Given the description of an element on the screen output the (x, y) to click on. 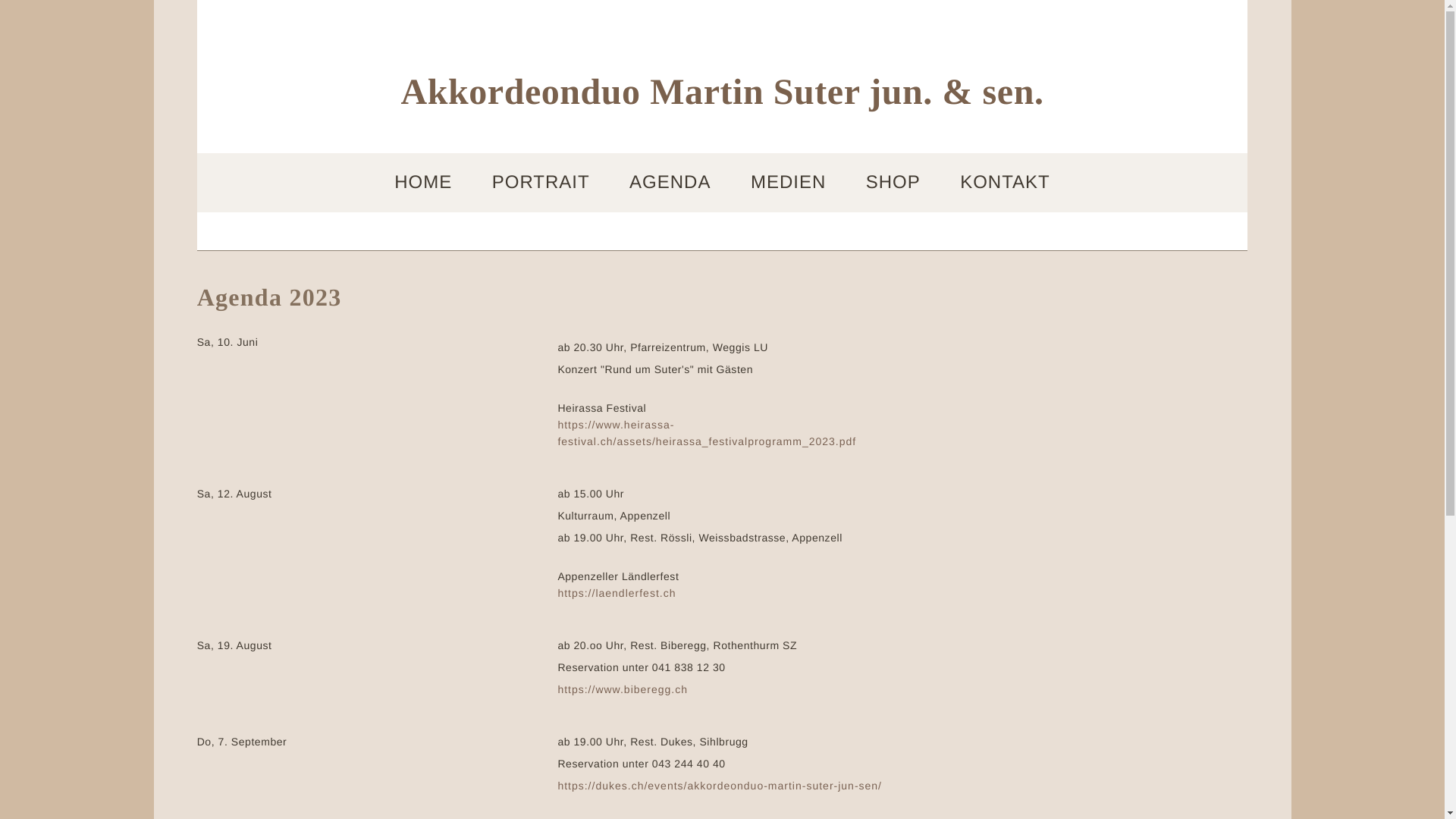
AGENDA Element type: text (669, 182)
HOME Element type: text (423, 182)
https://dukes.ch/events/akkordeonduo-martin-suter-jun-sen/ Element type: text (719, 785)
Akkordeonduo Martin Suter jun. & sen. Element type: text (722, 95)
MEDIEN Element type: text (788, 182)
SHOP Element type: text (892, 182)
PORTRAIT Element type: text (540, 182)
https://laendlerfest.ch Element type: text (616, 592)
KONTAKT Element type: text (1004, 182)
https://www.biberegg.ch Element type: text (622, 689)
